Given the description of an element on the screen output the (x, y) to click on. 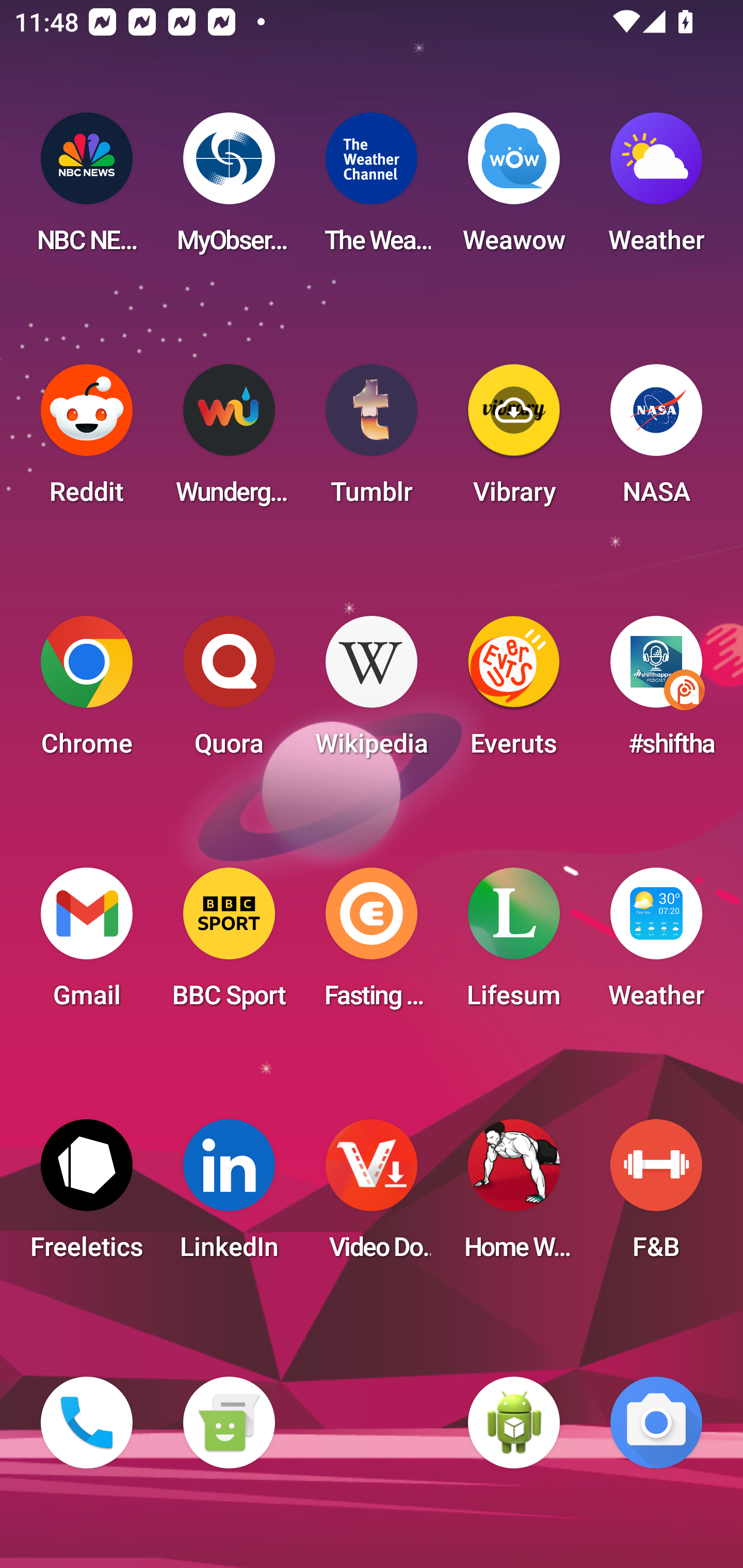
NBC NEWS (86, 188)
MyObservatory (228, 188)
The Weather Channel (371, 188)
Weawow (513, 188)
Weather (656, 188)
Reddit (86, 440)
Wunderground (228, 440)
Tumblr (371, 440)
Vibrary (513, 440)
NASA (656, 440)
Chrome (86, 692)
Quora (228, 692)
Wikipedia (371, 692)
Everuts (513, 692)
#shifthappens in the Digital Workplace Podcast (656, 692)
Gmail (86, 943)
BBC Sport (228, 943)
Fasting Coach (371, 943)
Lifesum (513, 943)
Weather (656, 943)
Freeletics (86, 1195)
LinkedIn (228, 1195)
Video Downloader & Ace Player (371, 1195)
Home Workout (513, 1195)
F&B (656, 1195)
Phone (86, 1422)
Messaging (228, 1422)
WebView Browser Tester (513, 1422)
Camera (656, 1422)
